Given the description of an element on the screen output the (x, y) to click on. 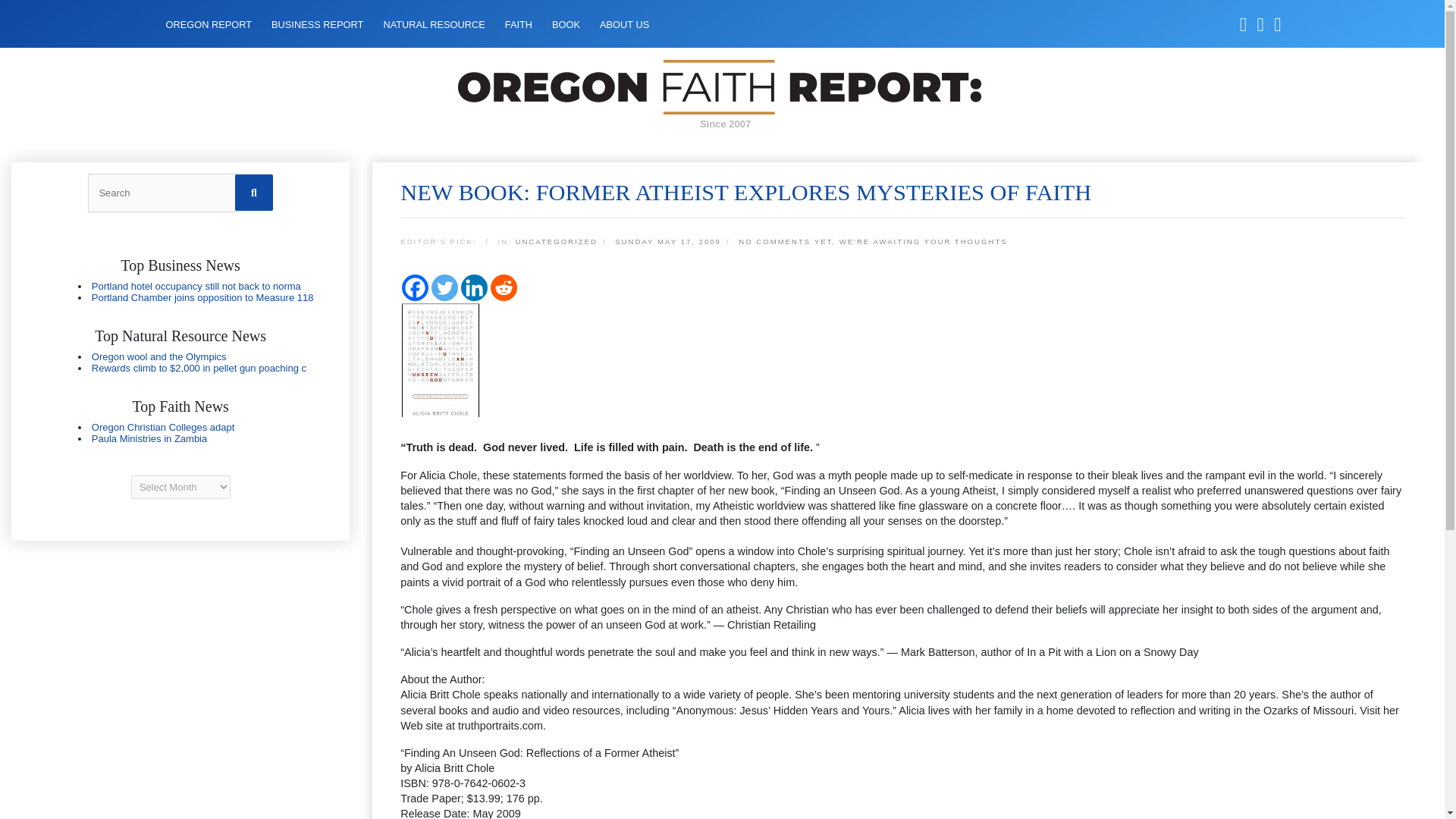
Paula Ministries in Zambia (148, 438)
Portland hotel occupancy still not back to normal (196, 285)
Portland Chamber joins opposition to Measure 118 (202, 297)
ABOUT US (624, 24)
Linkedin (474, 287)
Facebook (414, 287)
NATURAL RESOURCE (433, 24)
Twitter (444, 287)
Oregon (181, 432)
Oregon wool and the Olympics (159, 356)
